Given the description of an element on the screen output the (x, y) to click on. 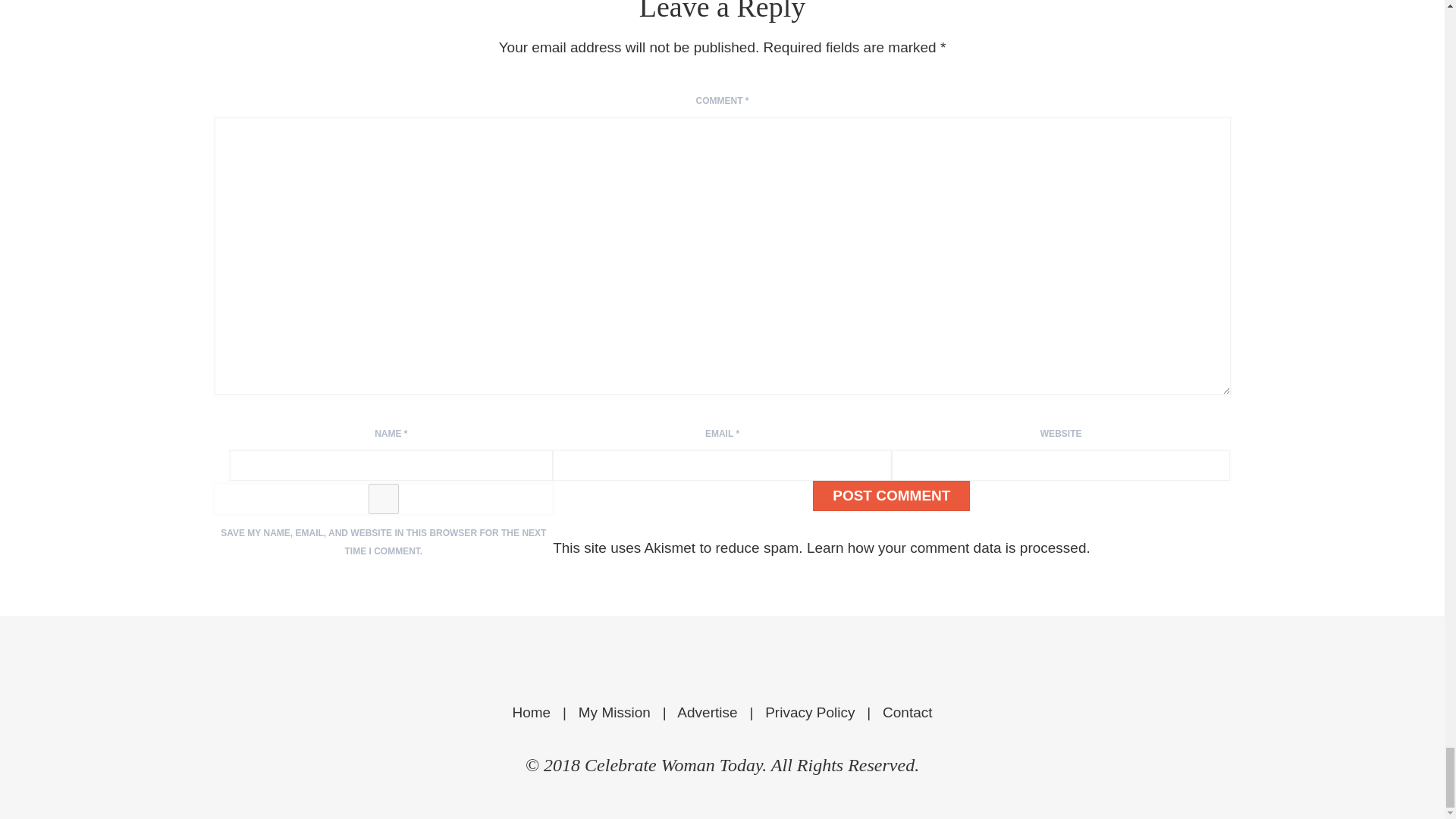
Post Comment (890, 495)
yes (383, 499)
